Given the description of an element on the screen output the (x, y) to click on. 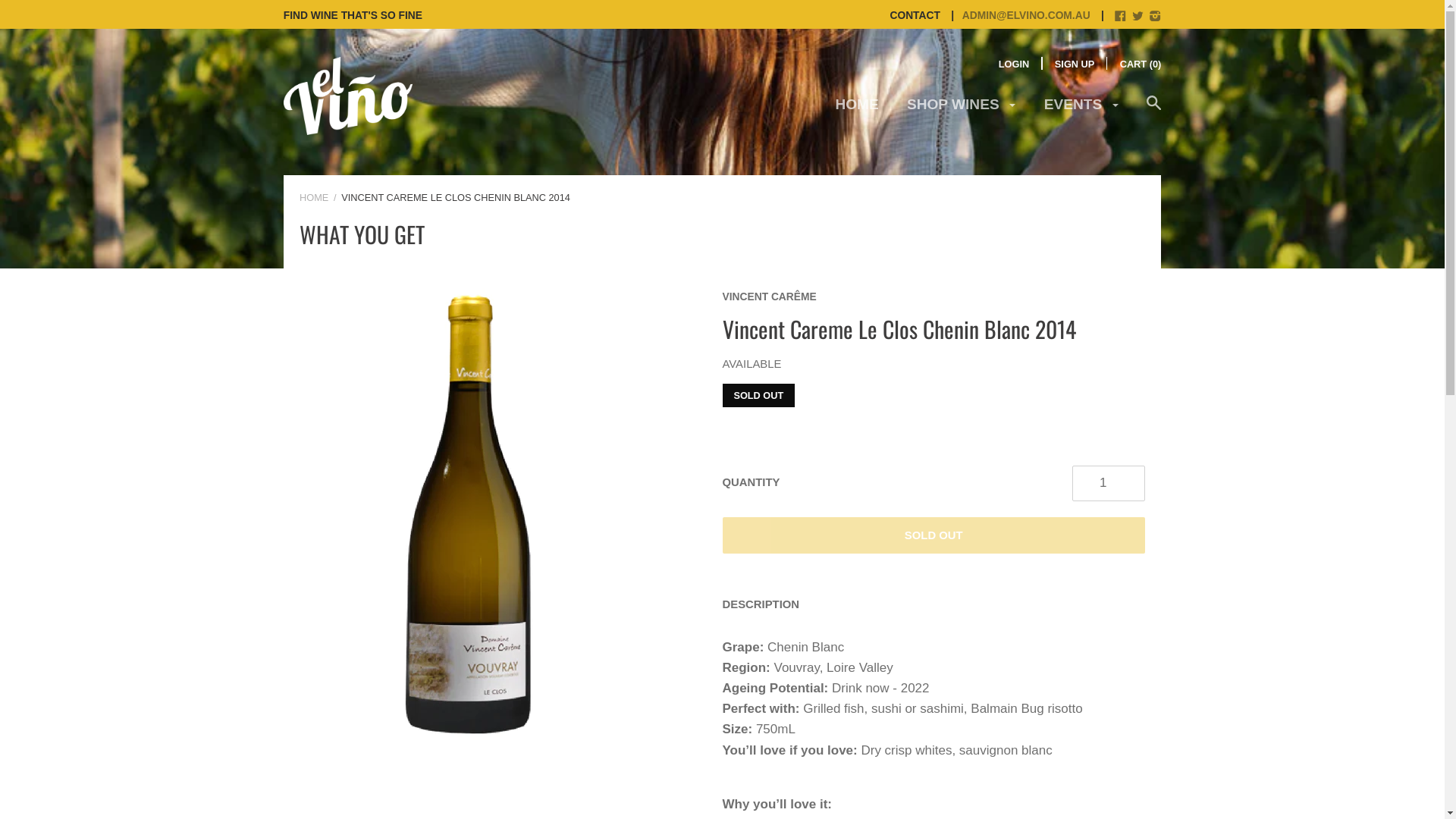
SOLD OUT Element type: text (933, 535)
ADMIN@ELVINO.COM.AU Element type: text (1016, 14)
Facebook Element type: text (1120, 16)
EVENTS Element type: text (1081, 110)
SHOP WINES Element type: text (961, 110)
Instagram Element type: text (1155, 16)
HOME Element type: text (856, 110)
LOGIN Element type: text (1013, 63)
Twitter Element type: text (1137, 16)
CART (0) Element type: text (1140, 63)
Search Element type: hover (1153, 111)
HOME Element type: text (313, 197)
SIGN UP Element type: text (1074, 63)
